Given the description of an element on the screen output the (x, y) to click on. 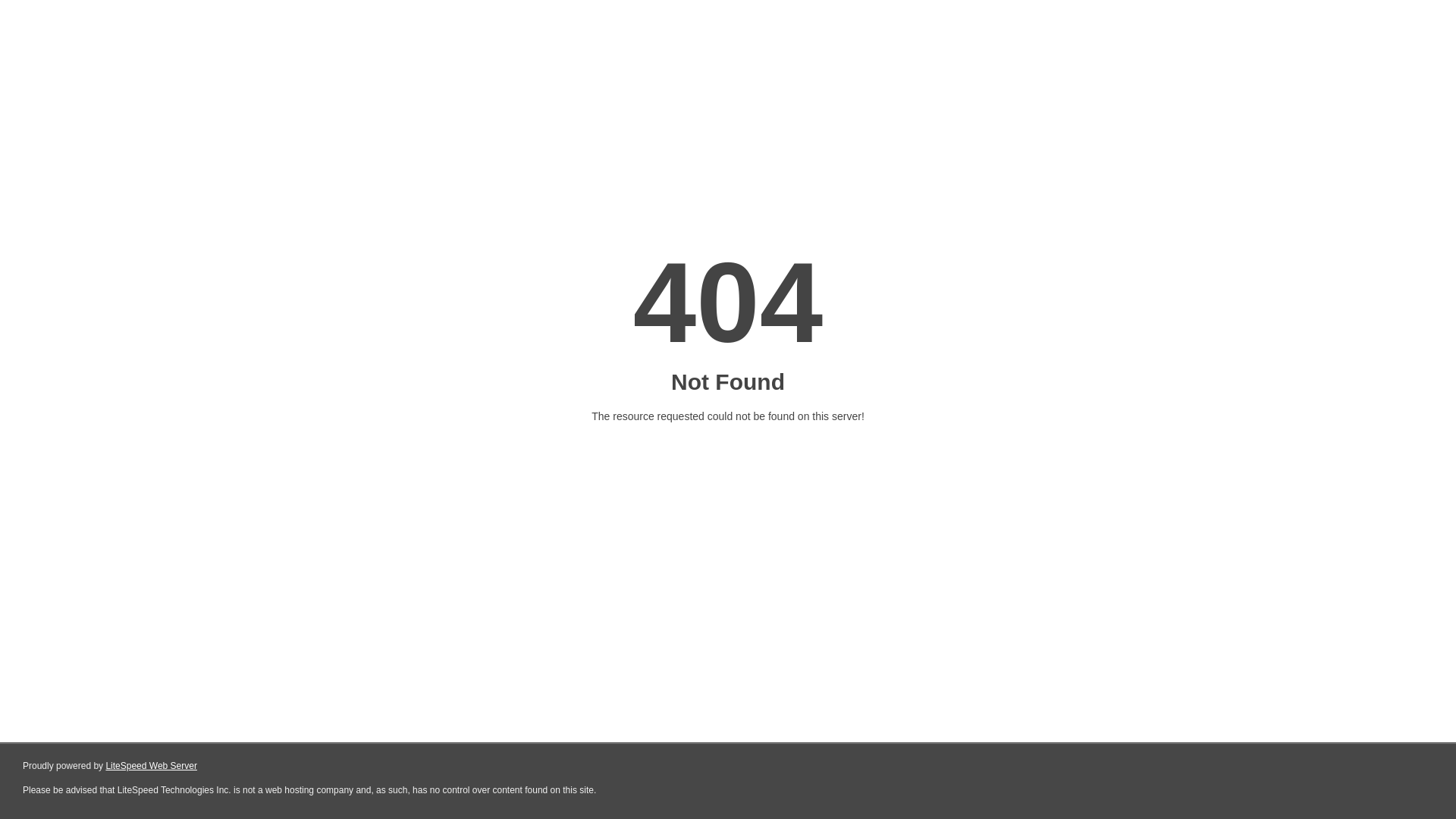
LiteSpeed Web Server Element type: text (151, 765)
